Given the description of an element on the screen output the (x, y) to click on. 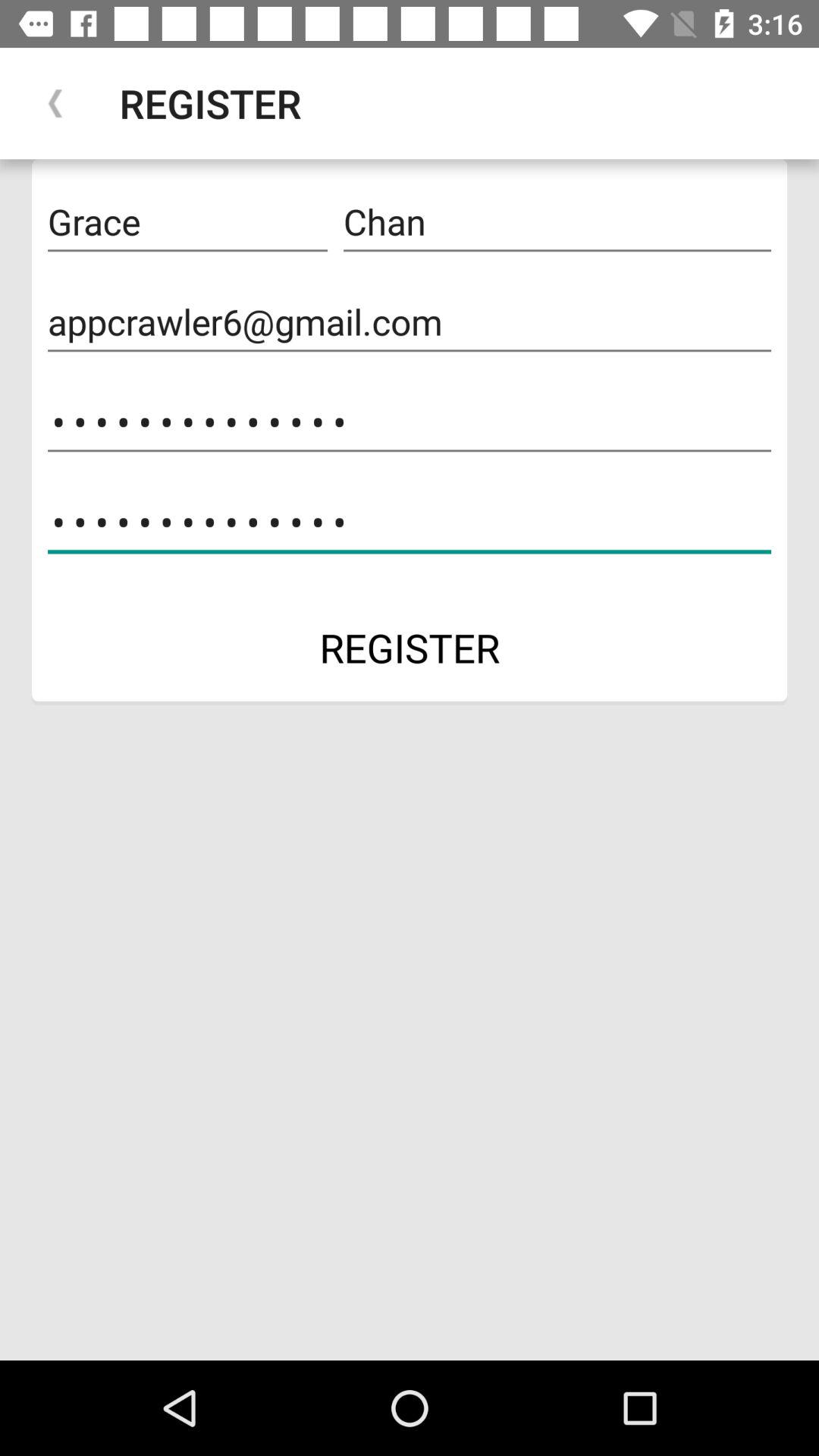
scroll to appcrawler6@gmail.com icon (409, 322)
